Given the description of an element on the screen output the (x, y) to click on. 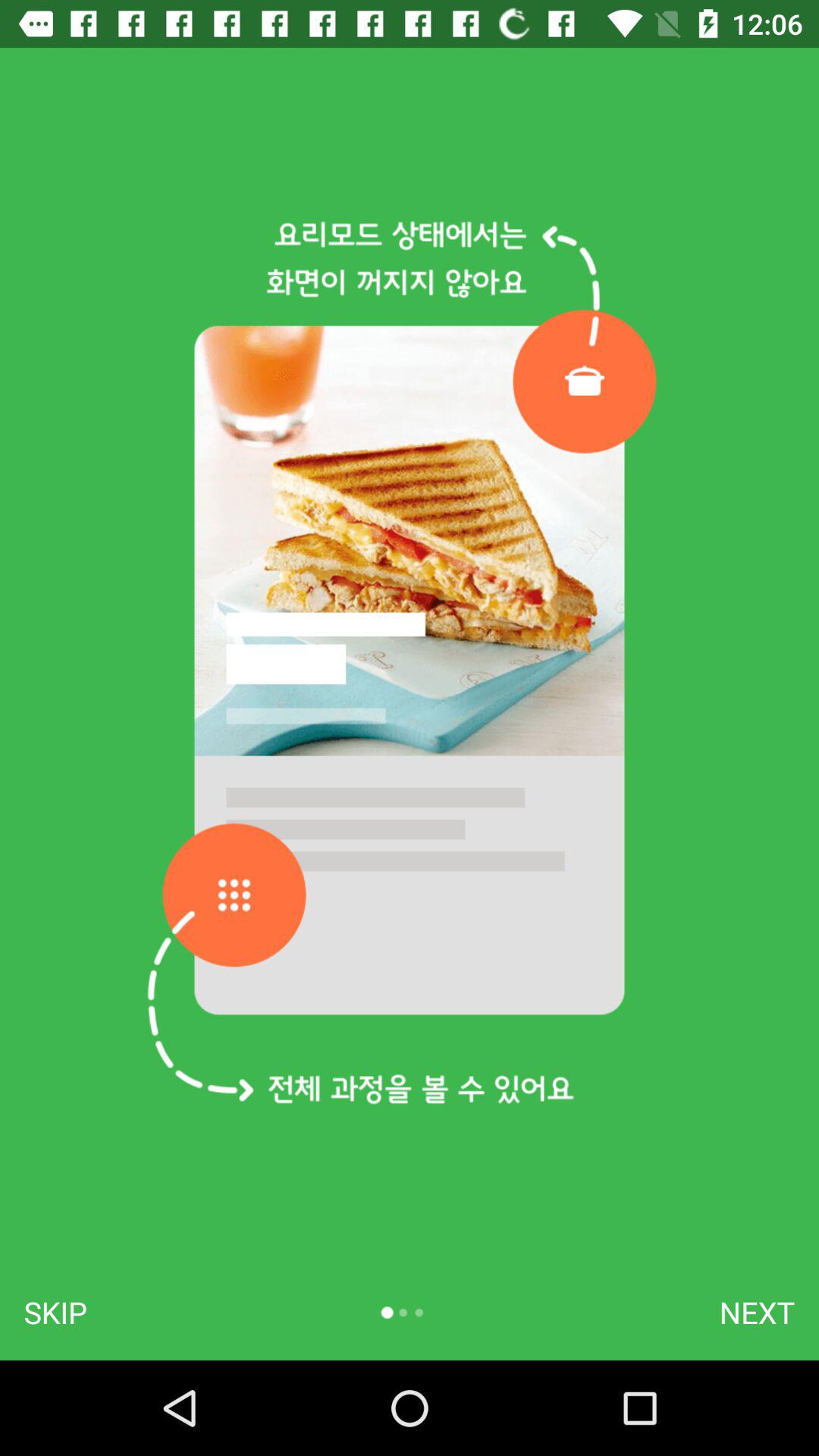
turn on skip icon (55, 1312)
